Given the description of an element on the screen output the (x, y) to click on. 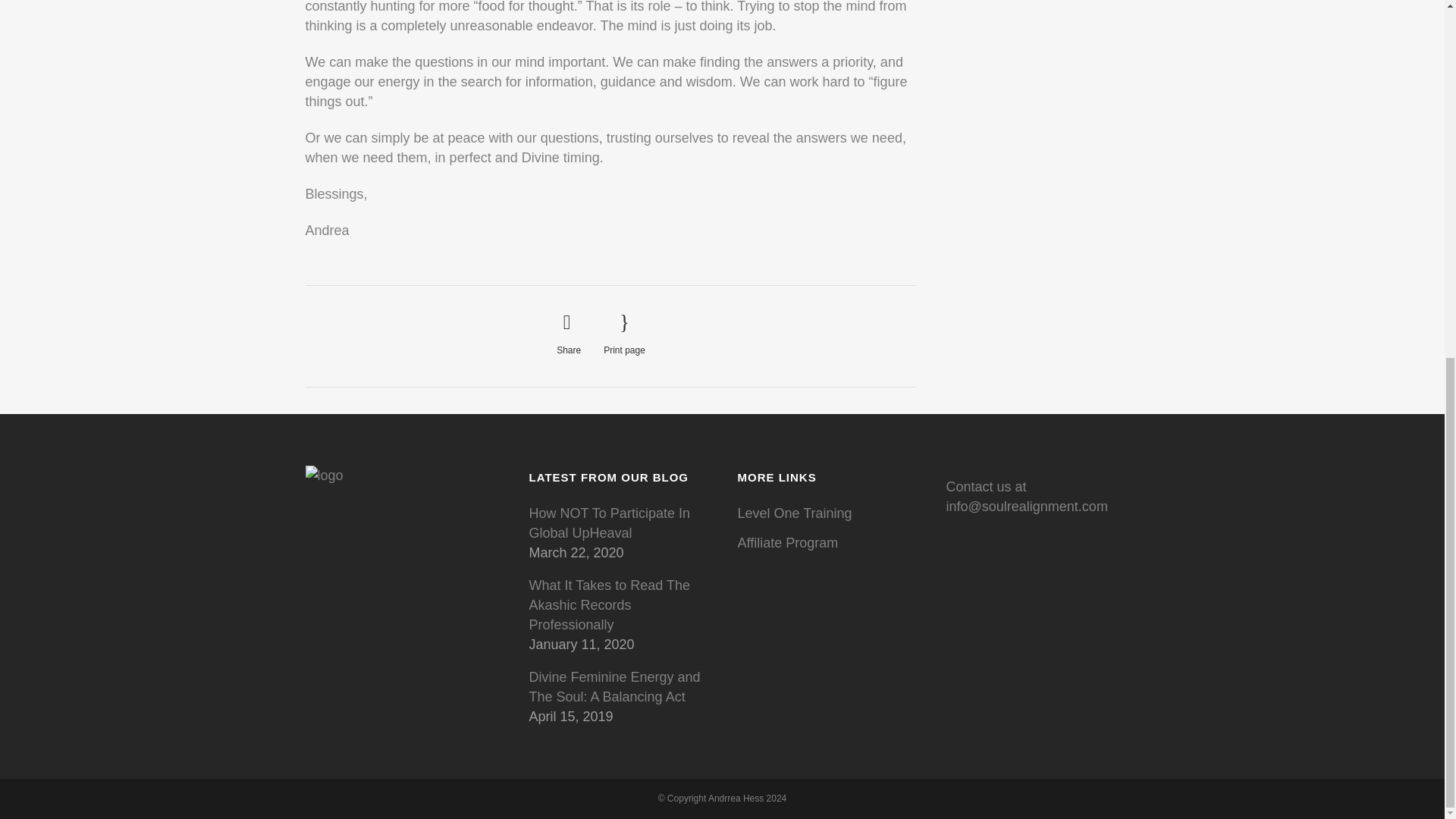
Divine Feminine Energy and The Soul: A Balancing Act (621, 686)
What It Takes to Read The Akashic Records Professionally (621, 604)
Print page (624, 333)
How NOT To Participate In Global UpHeaval (621, 522)
